Given the description of an element on the screen output the (x, y) to click on. 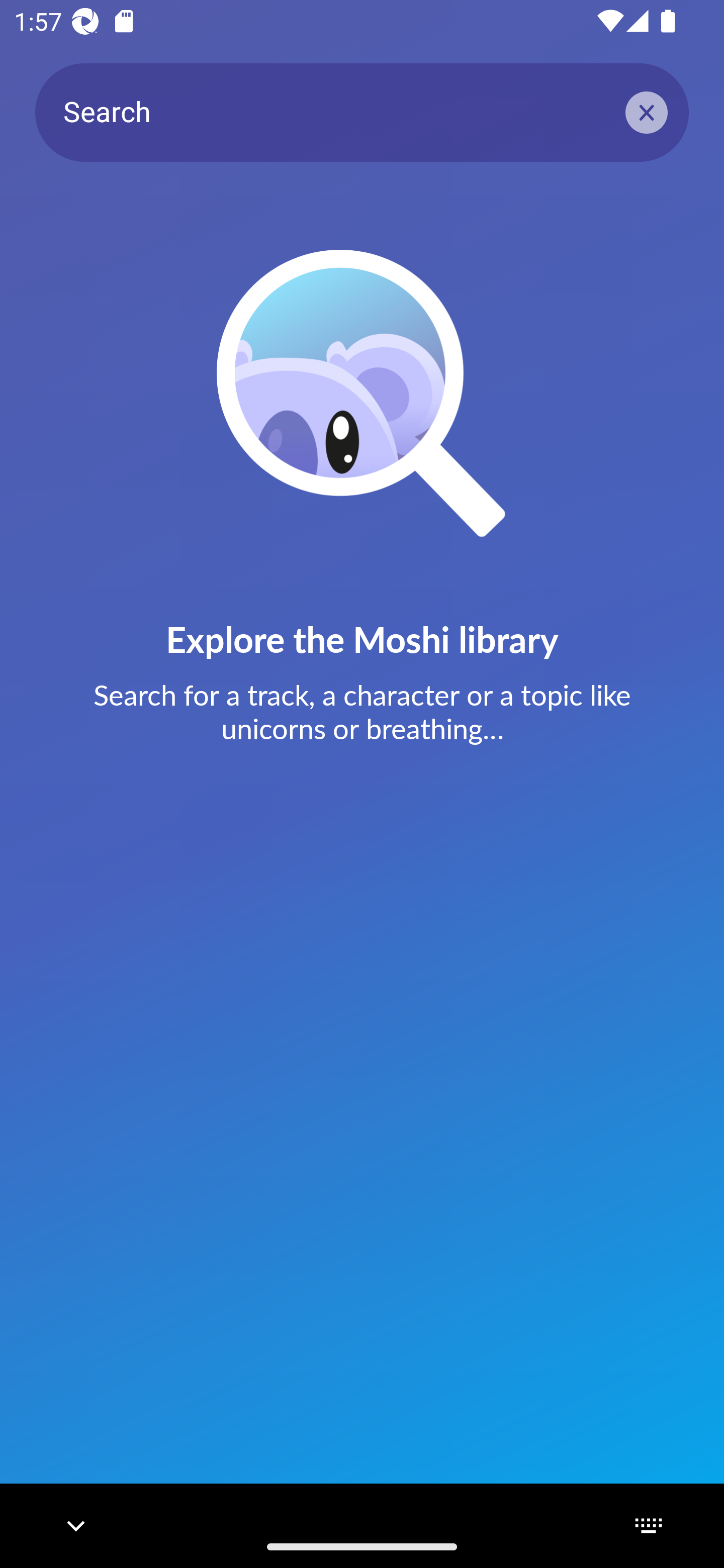
Search (361, 111)
